Given the description of an element on the screen output the (x, y) to click on. 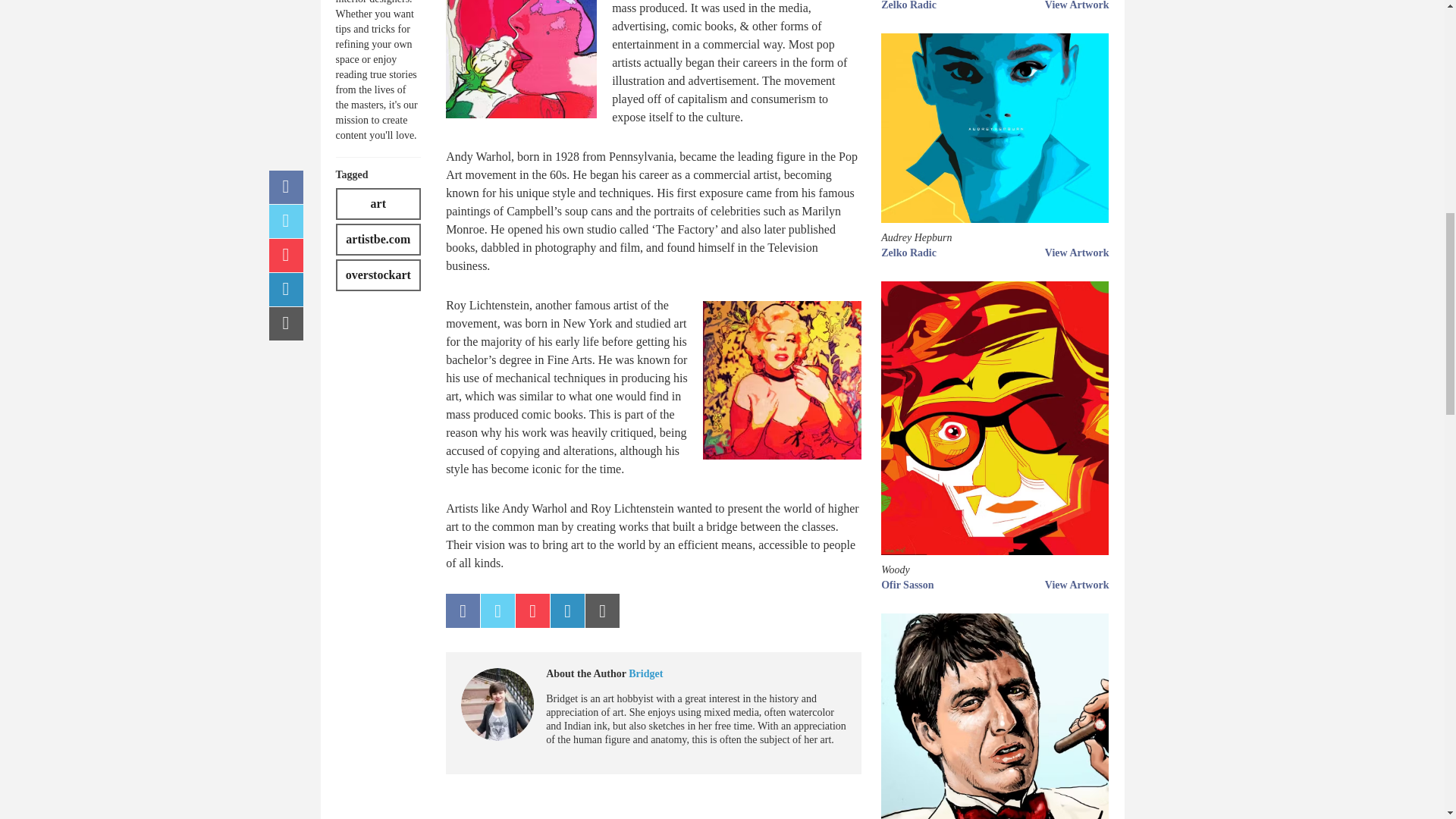
Bridget (645, 673)
art (377, 204)
Posts by Bridget (645, 673)
Marylin Flowers by Raquel Sarangello (782, 380)
The Rose by Raquel Sarangello (520, 58)
overstockart (377, 275)
artistbe.com (377, 239)
